Given the description of an element on the screen output the (x, y) to click on. 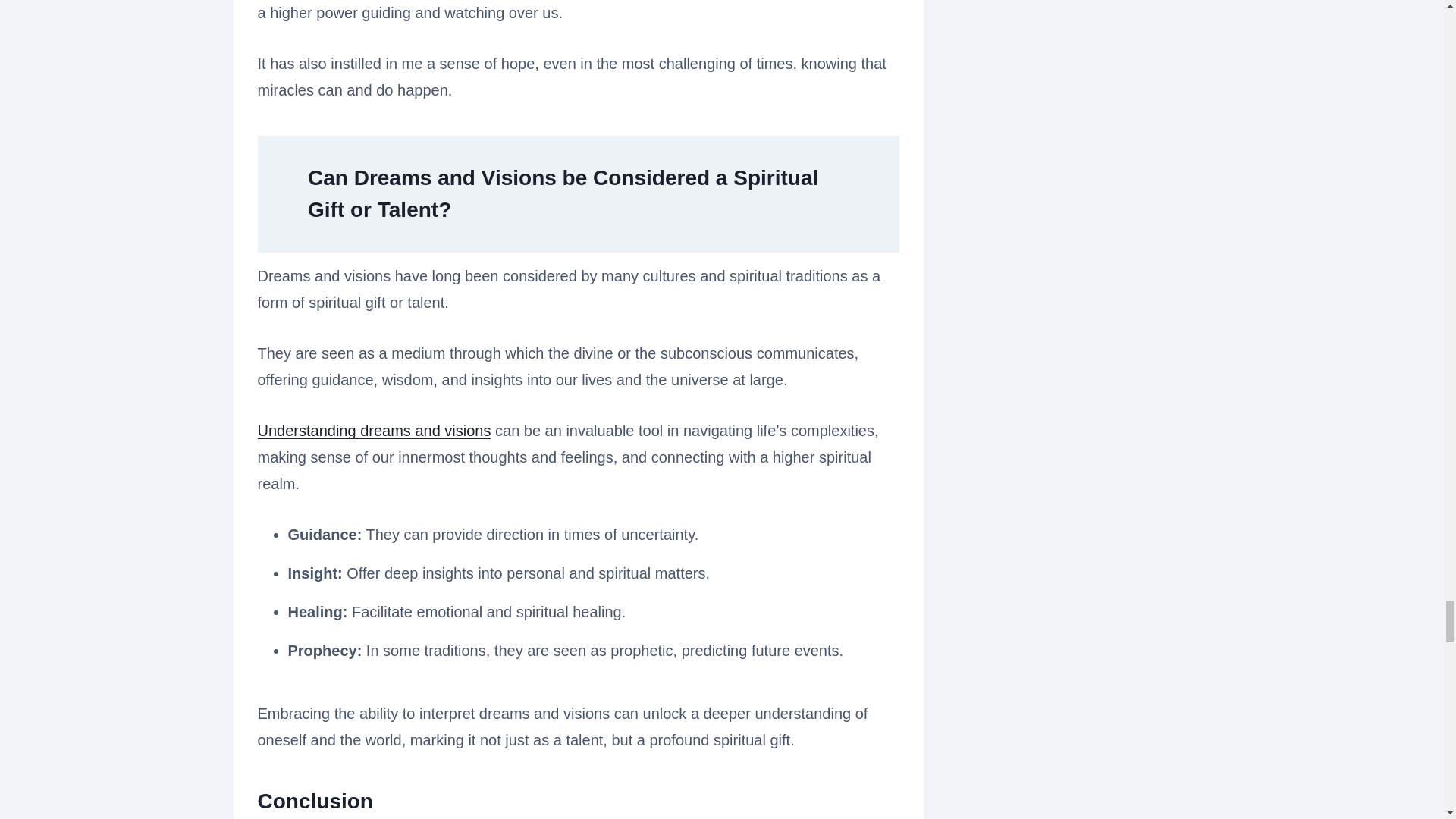
Understanding dreams and visions (374, 430)
